Given the description of an element on the screen output the (x, y) to click on. 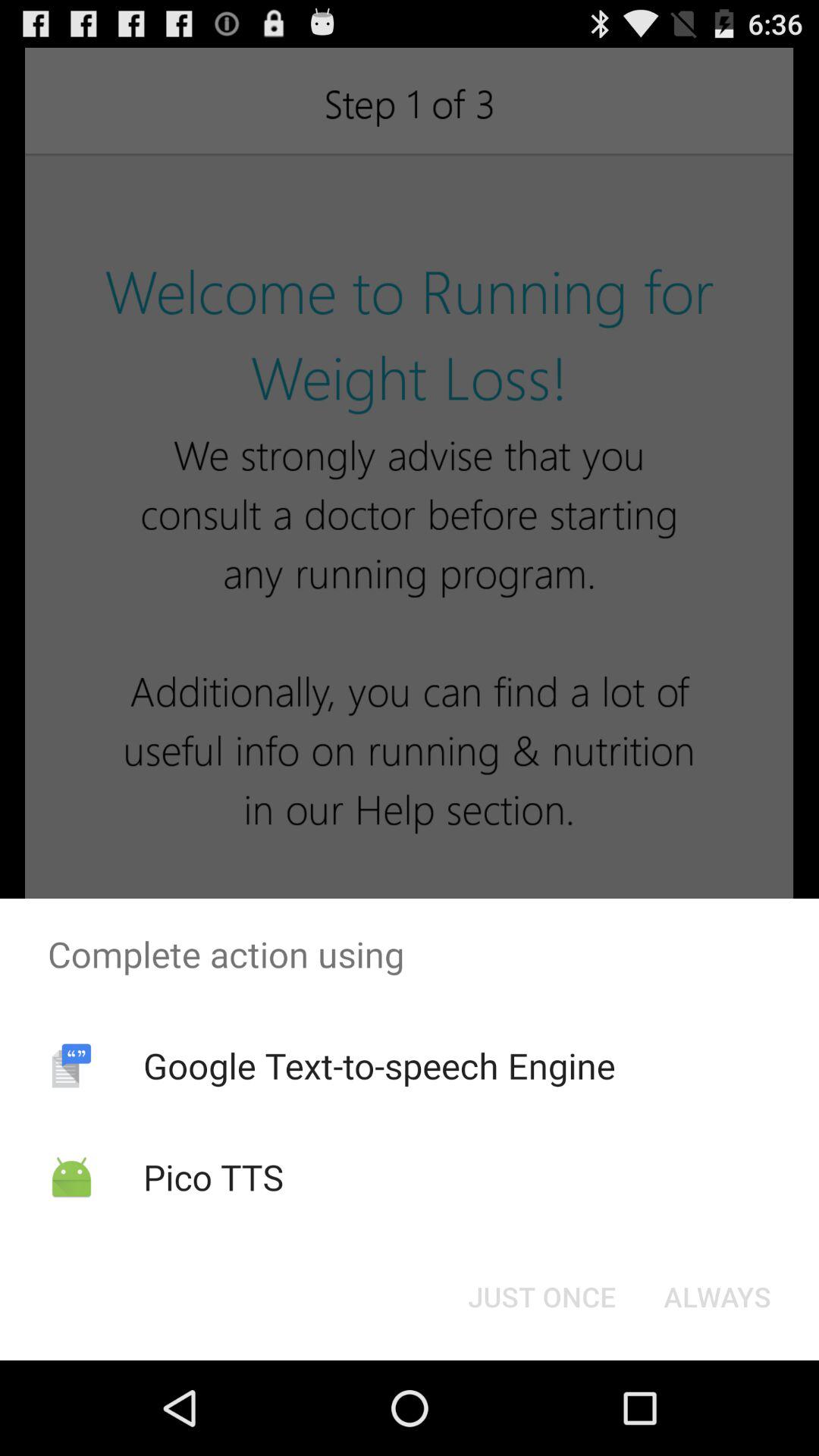
select the item to the left of always item (541, 1296)
